Given the description of an element on the screen output the (x, y) to click on. 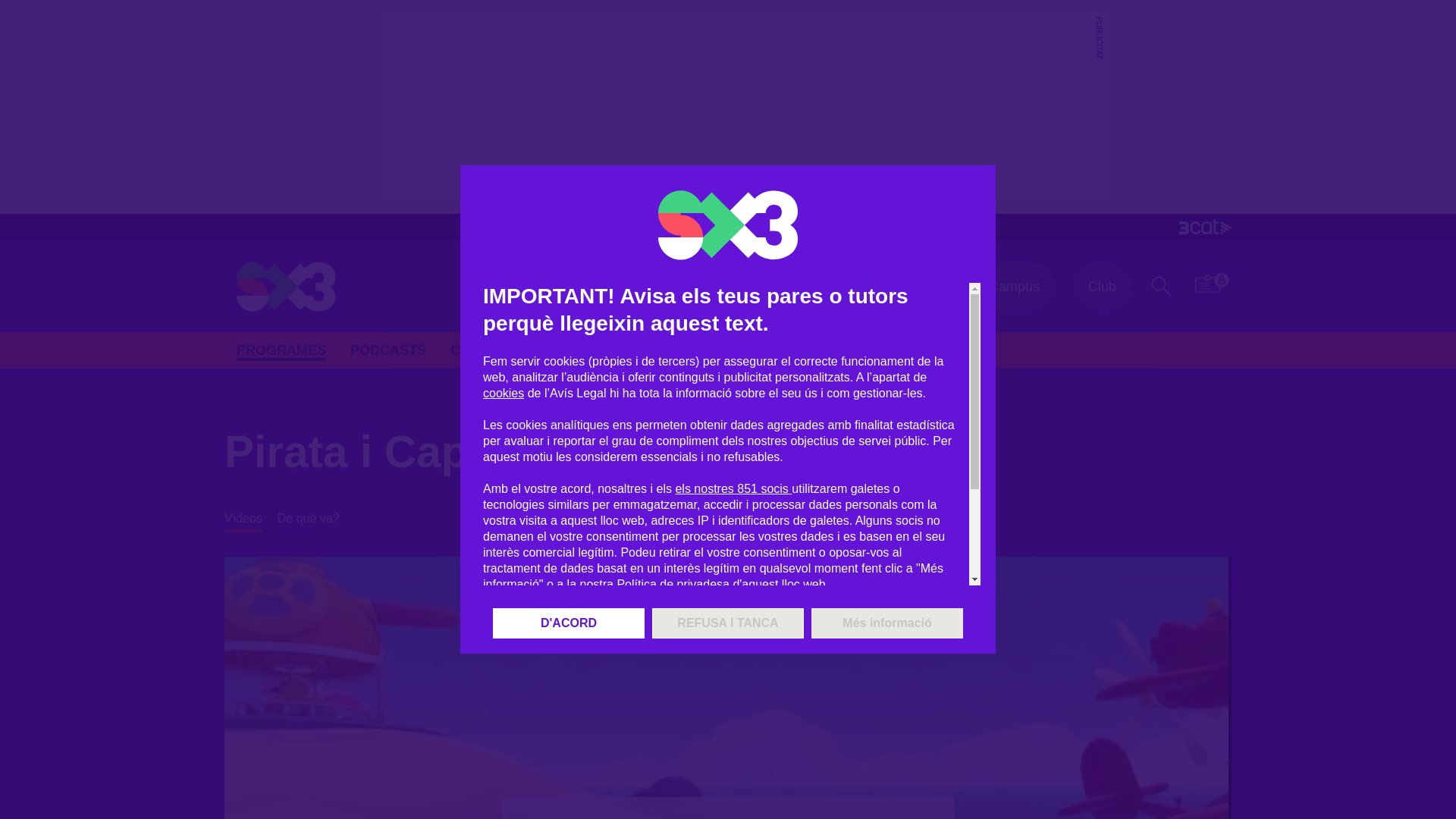
cookies (503, 392)
PROGRAMES (280, 352)
REFUSA I TANCA (727, 623)
PINTA (660, 350)
Juga (596, 350)
Club (1102, 286)
3Cat (727, 226)
Pirata i Capitano (411, 451)
SuperCampus (995, 286)
SX3 (285, 286)
SuperCampus (995, 286)
Programes (280, 352)
X3 (894, 286)
S3 (827, 286)
CANTA I BALLA (501, 350)
